Given the description of an element on the screen output the (x, y) to click on. 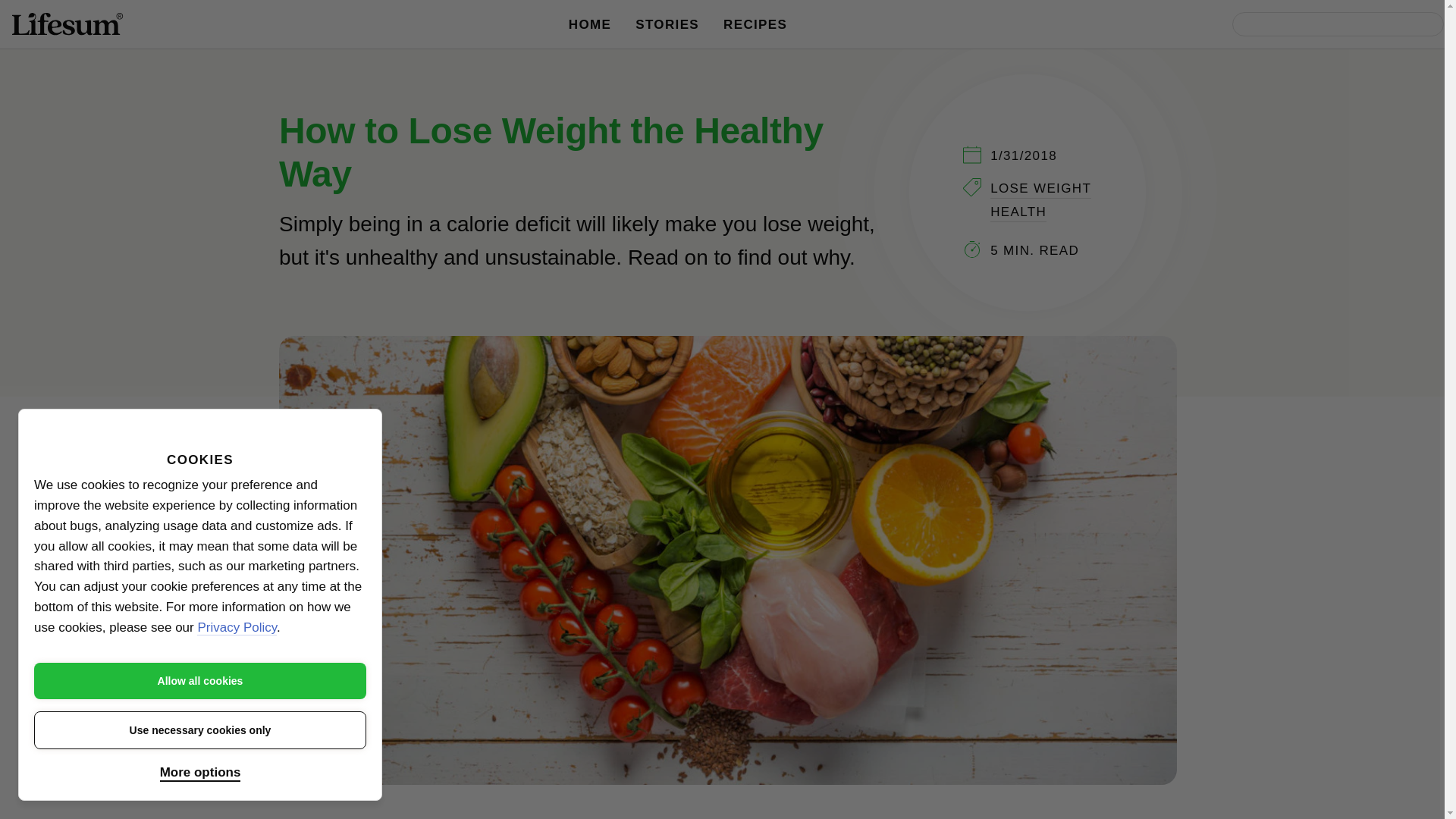
More options (200, 773)
STORIES (666, 24)
Use necessary cookies only (199, 730)
HEALTH (1018, 212)
RECIPES (755, 24)
Allow all cookies (199, 680)
HOME (590, 24)
Privacy Policy (236, 627)
LOSE WEIGHT (1040, 189)
